Given the description of an element on the screen output the (x, y) to click on. 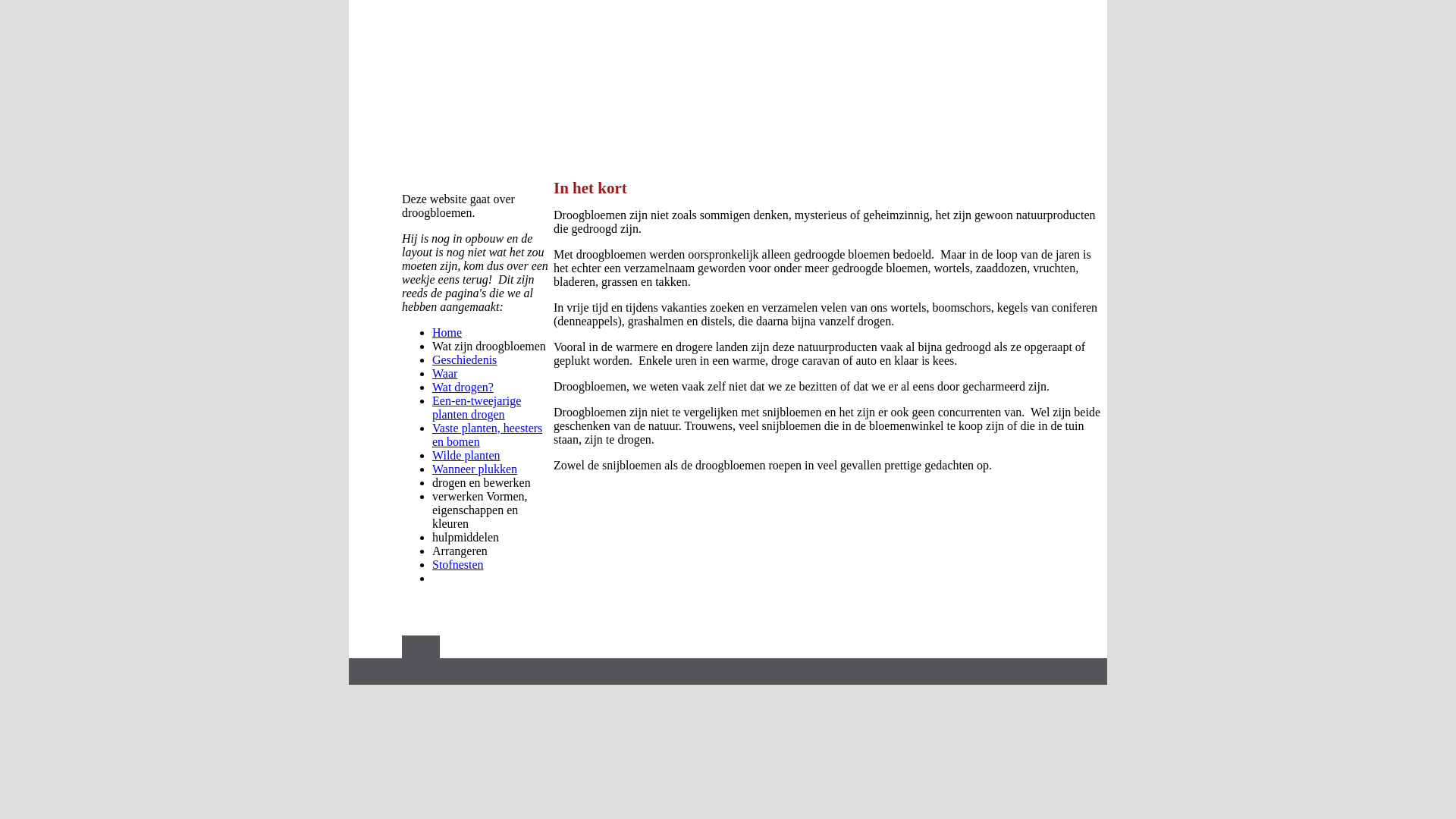
Geschiedenis Element type: text (464, 359)
Een-en-tweejarige planten drogen Element type: text (476, 407)
Wilde planten Element type: text (466, 454)
Wat drogen? Element type: text (462, 386)
Home Element type: text (446, 332)
Wanneer plukken Element type: text (474, 468)
Vaste planten, heesters en bomen Element type: text (487, 434)
Waar Element type: text (444, 373)
Stofnesten Element type: text (457, 564)
